Given the description of an element on the screen output the (x, y) to click on. 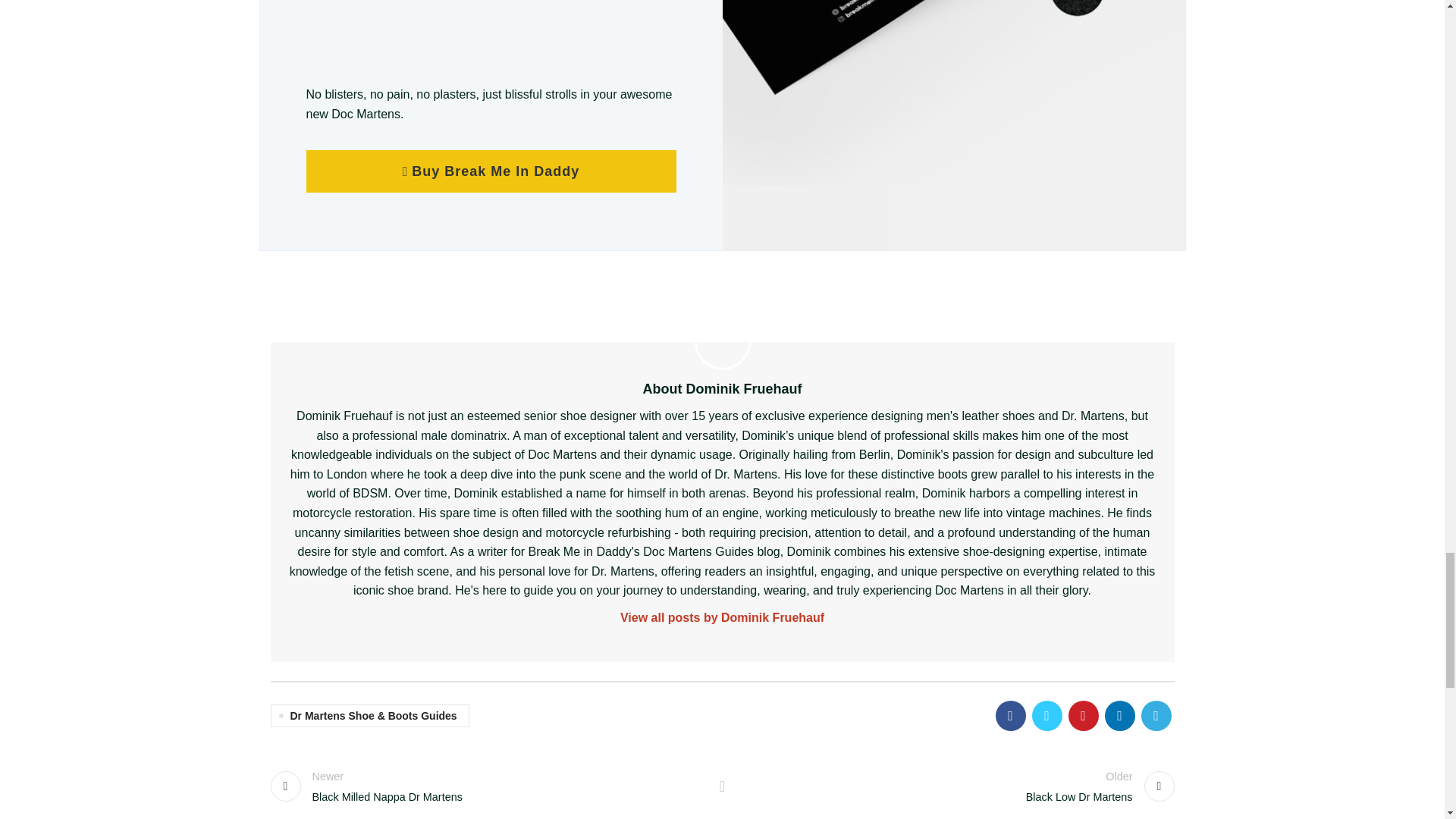
View all posts by Dominik Fruehauf (955, 784)
Buy Break Me In Daddy (722, 618)
Back to list (491, 170)
